Given the description of an element on the screen output the (x, y) to click on. 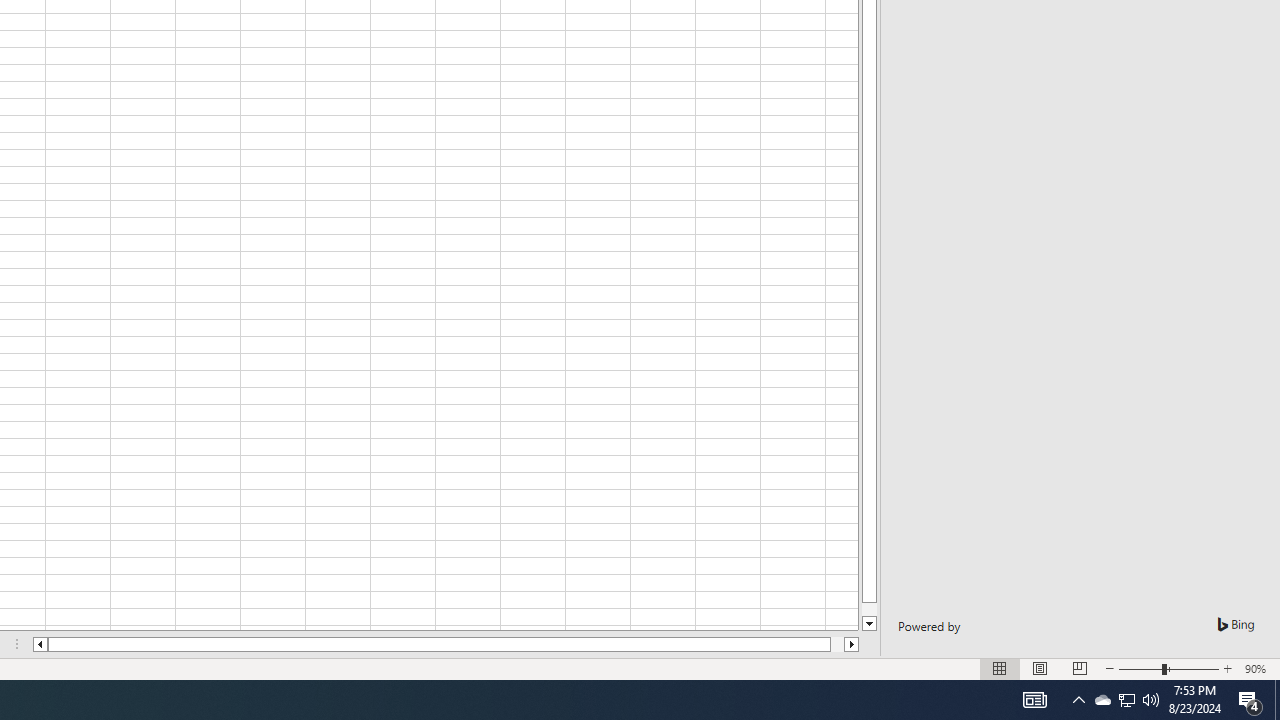
Zoom (1168, 668)
Zoom Out (1140, 668)
Column right (852, 644)
Class: NetUIScrollBar (445, 644)
Page right (836, 644)
Page Break Preview (1079, 668)
Zoom In (1227, 668)
Page Layout (1039, 668)
Page down (869, 609)
Column left (39, 644)
Line down (869, 624)
Normal (1000, 668)
